Given the description of an element on the screen output the (x, y) to click on. 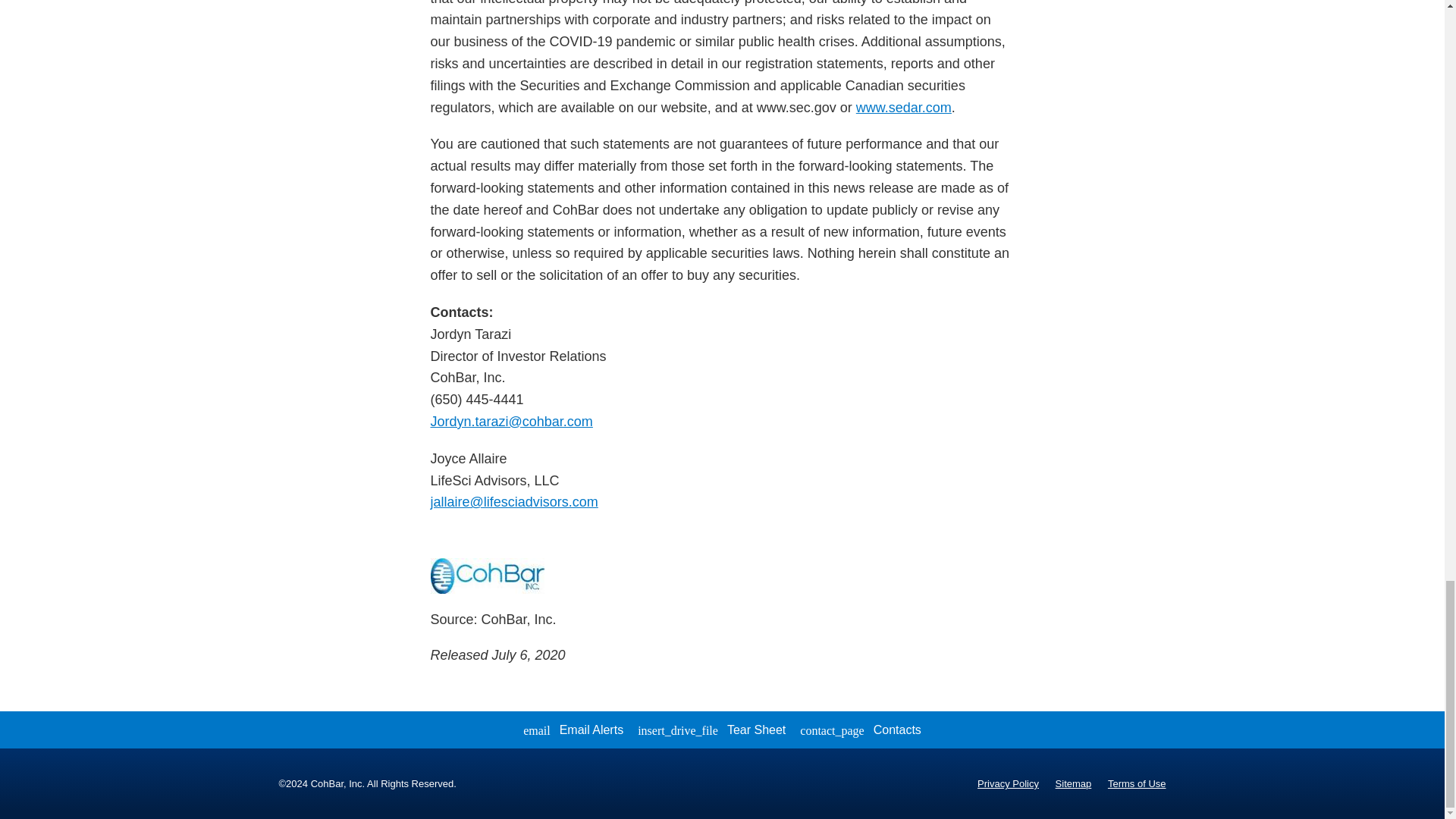
Tear Sheet (711, 729)
Opens in a new window (514, 501)
Opens in a new window (904, 107)
Opens in a new window (511, 421)
www.sedar.com (904, 107)
